Given the description of an element on the screen output the (x, y) to click on. 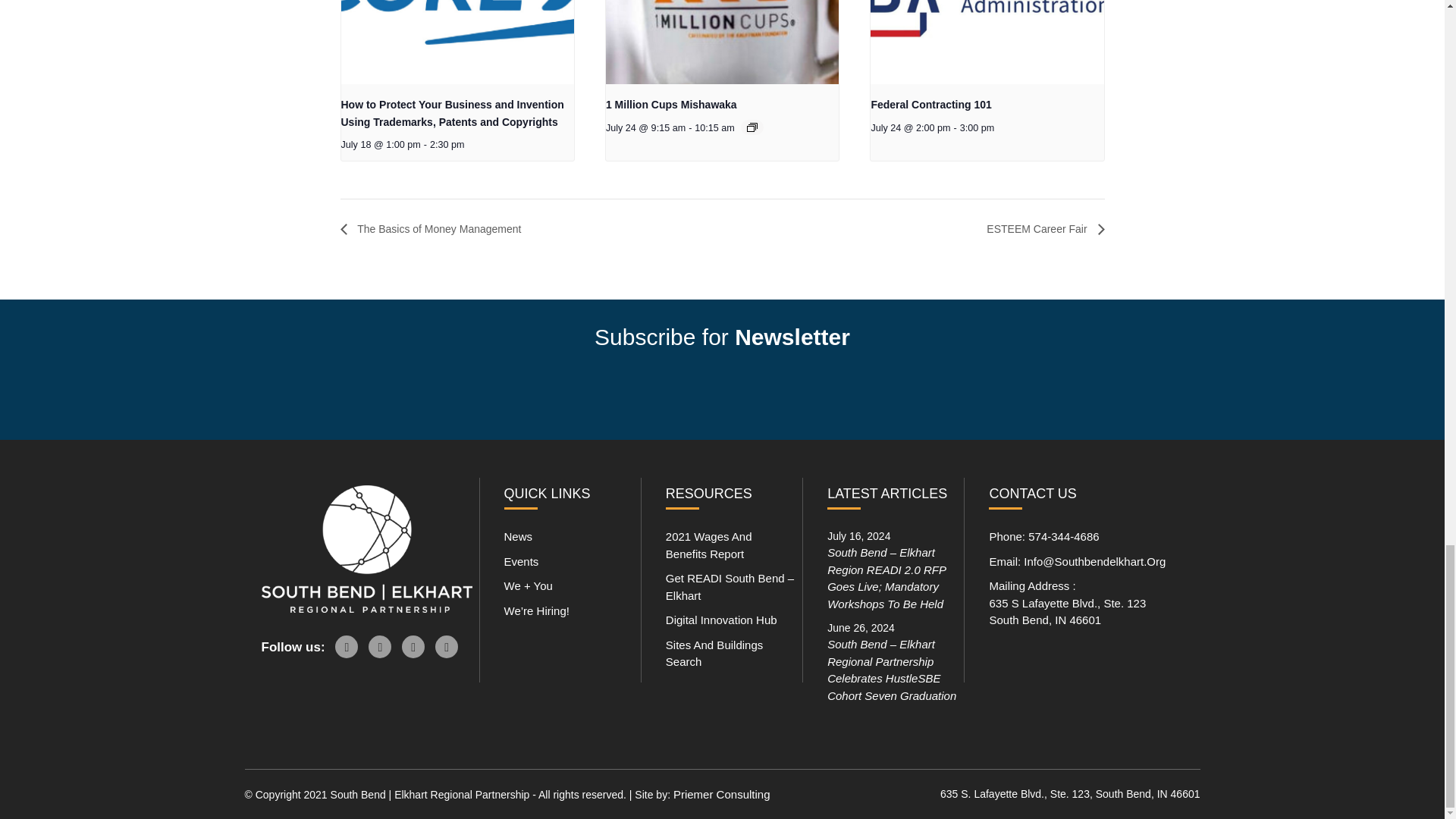
Event Series (751, 126)
